Given the description of an element on the screen output the (x, y) to click on. 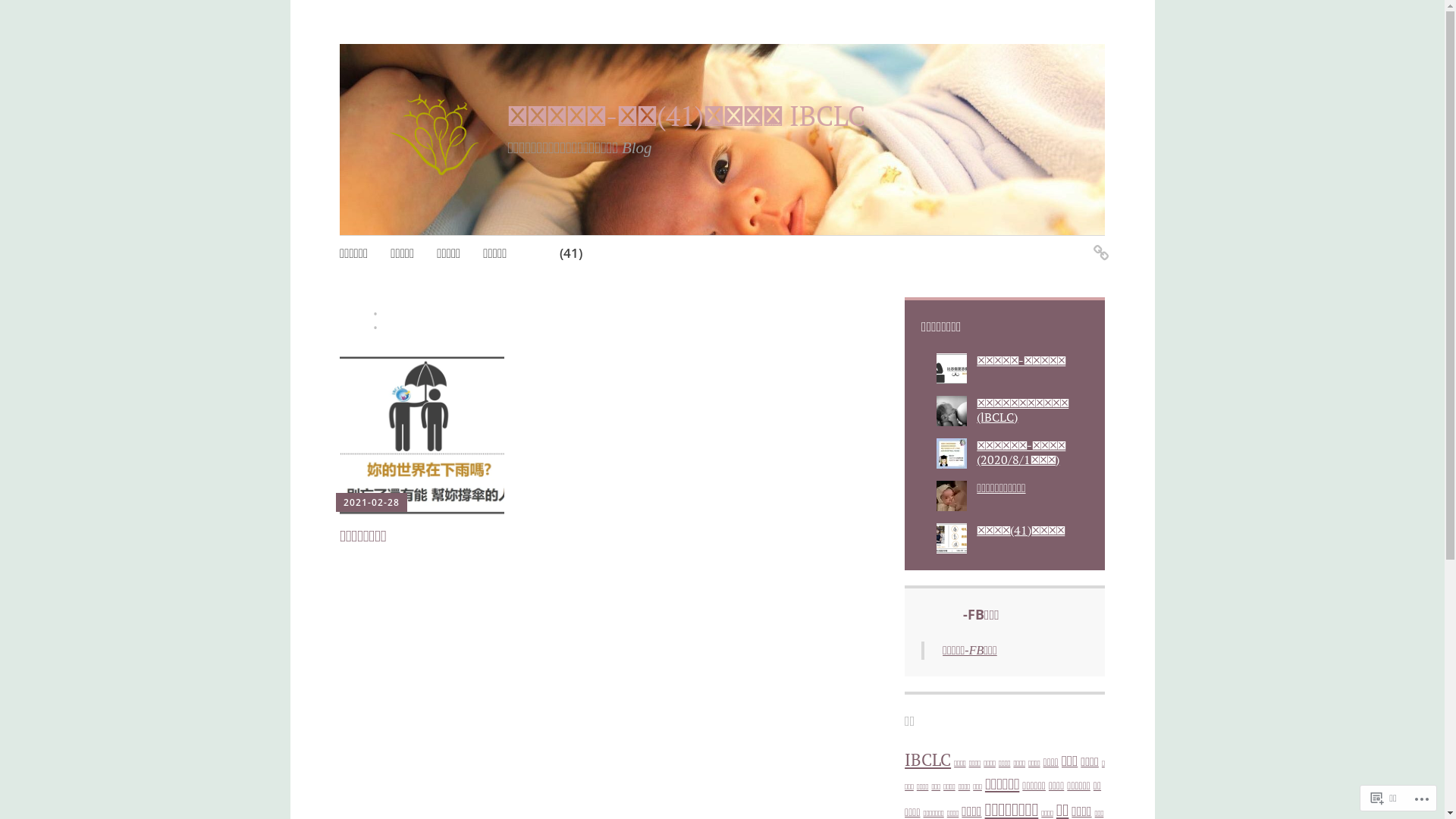
IBCLC Element type: text (927, 759)
2021-02-28 Element type: text (371, 501)
